Given the description of an element on the screen output the (x, y) to click on. 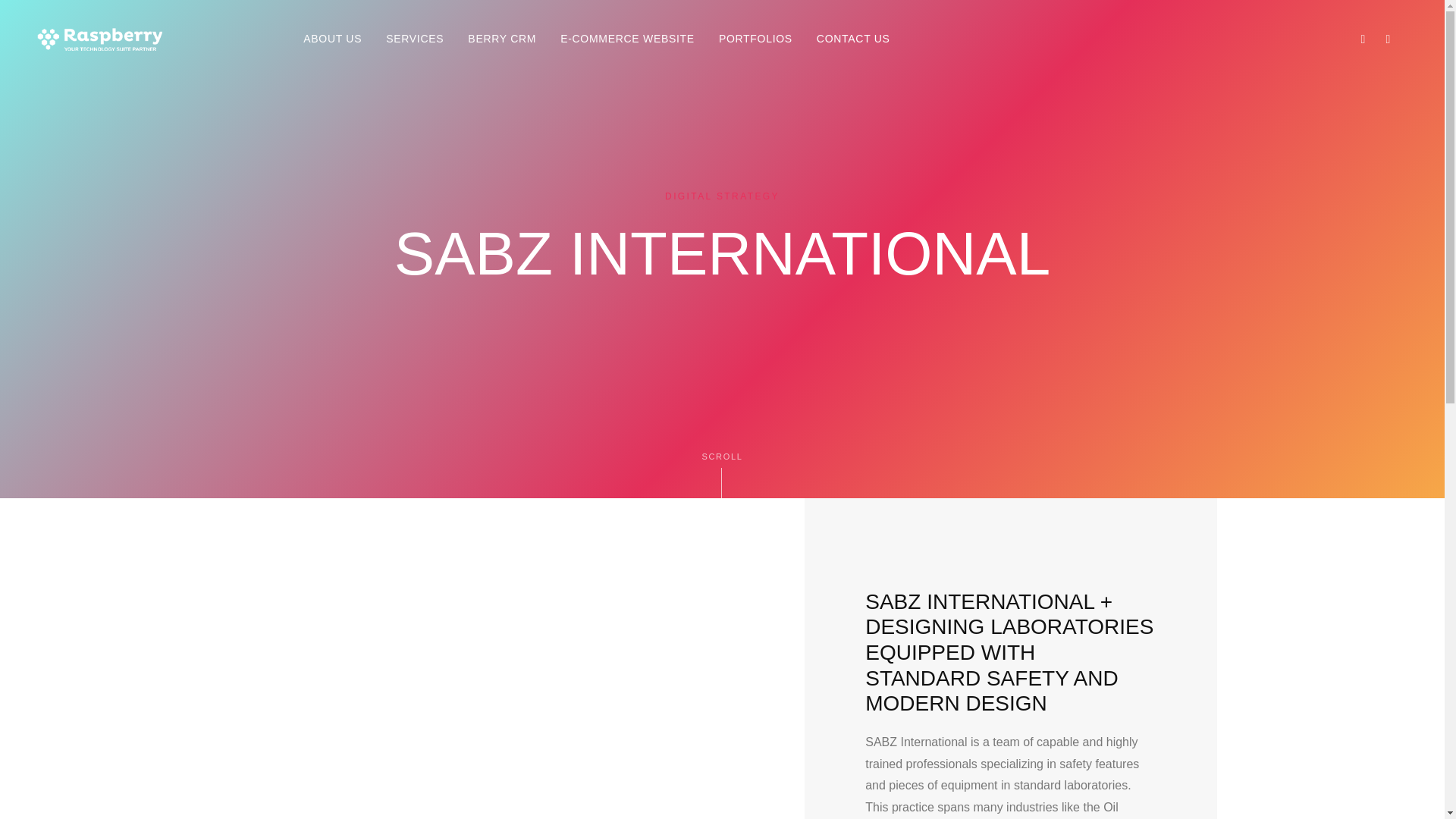
E-COMMERCE WEBSITE (627, 39)
ABOUT US (332, 39)
PORTFOLIOS (755, 39)
CONTACT US (853, 39)
SERVICES (414, 39)
BERRY CRM (501, 39)
SCROLL (722, 473)
Raspberry IT Services (424, 772)
SCROLL (722, 471)
